Given the description of an element on the screen output the (x, y) to click on. 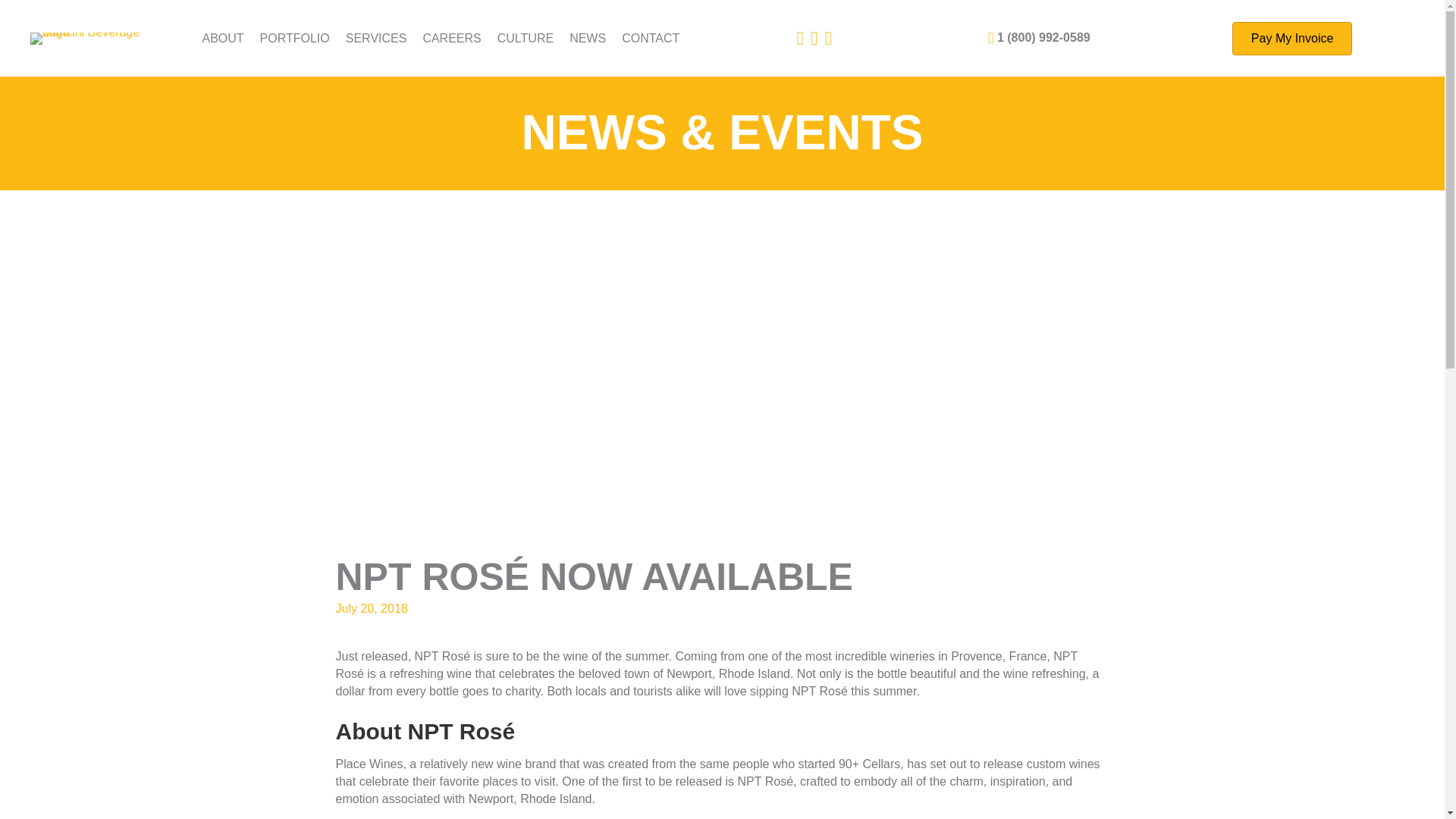
SERVICES (375, 37)
ABOUT (221, 37)
CULTURE (524, 37)
CONTACT (650, 37)
CAREERS (450, 37)
NEWS (587, 37)
PORTFOLIO (294, 37)
Pay My Invoice (1291, 38)
